Given the description of an element on the screen output the (x, y) to click on. 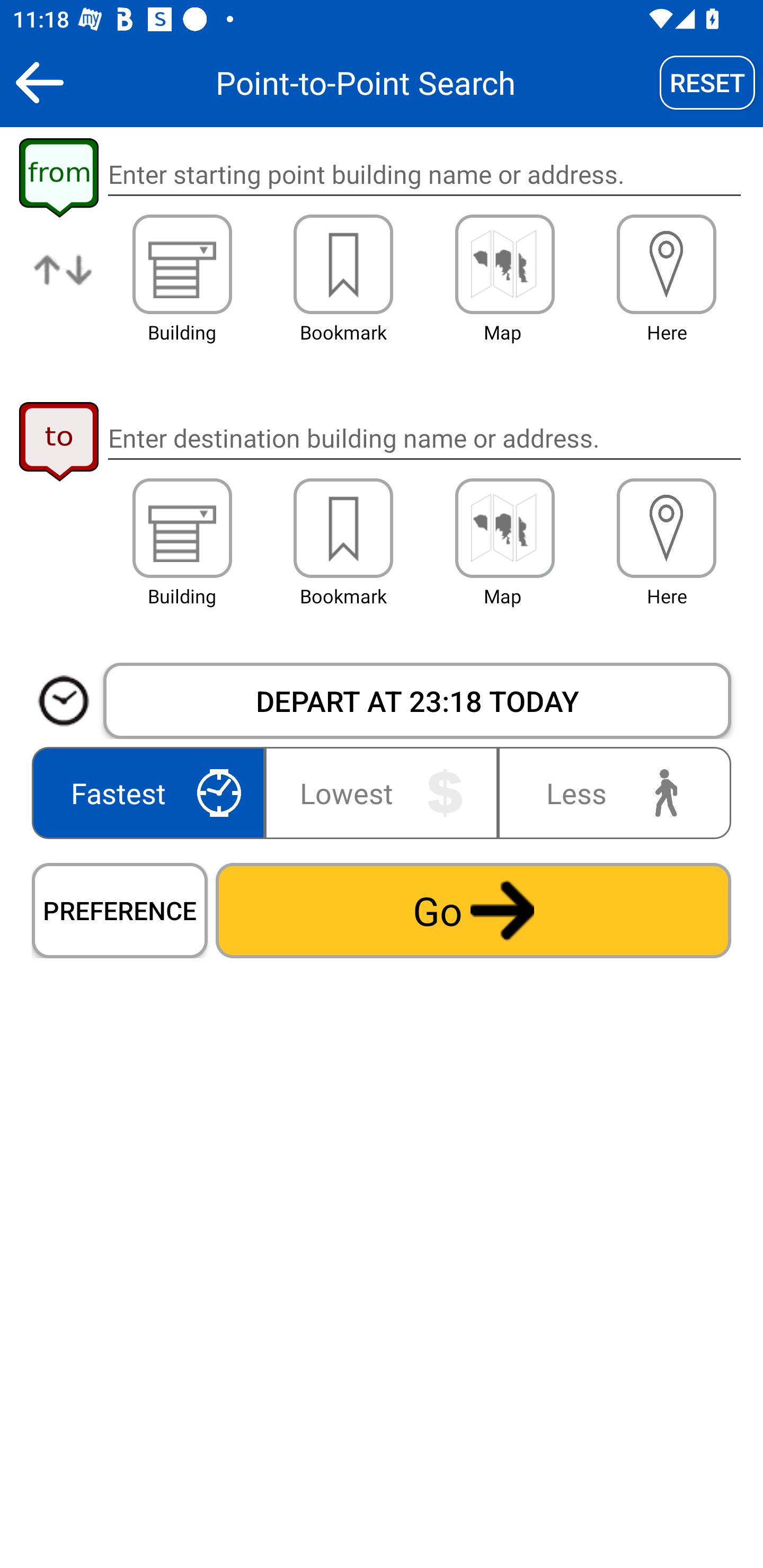
Back (39, 82)
RESET Reset (707, 81)
Enter starting point building name or address. (423, 174)
Building (181, 263)
Bookmarks (342, 263)
Select location on map (504, 263)
Here (666, 263)
Swap origin and destination (63, 284)
Enter destination building name or address. (423, 437)
Building (181, 528)
Bookmarks (342, 528)
Select location on map (504, 528)
Here (666, 528)
Lowest (381, 792)
Fastest selected (151, 792)
Less (610, 792)
PREFERENCE Preference (119, 910)
Go (472, 910)
